Given the description of an element on the screen output the (x, y) to click on. 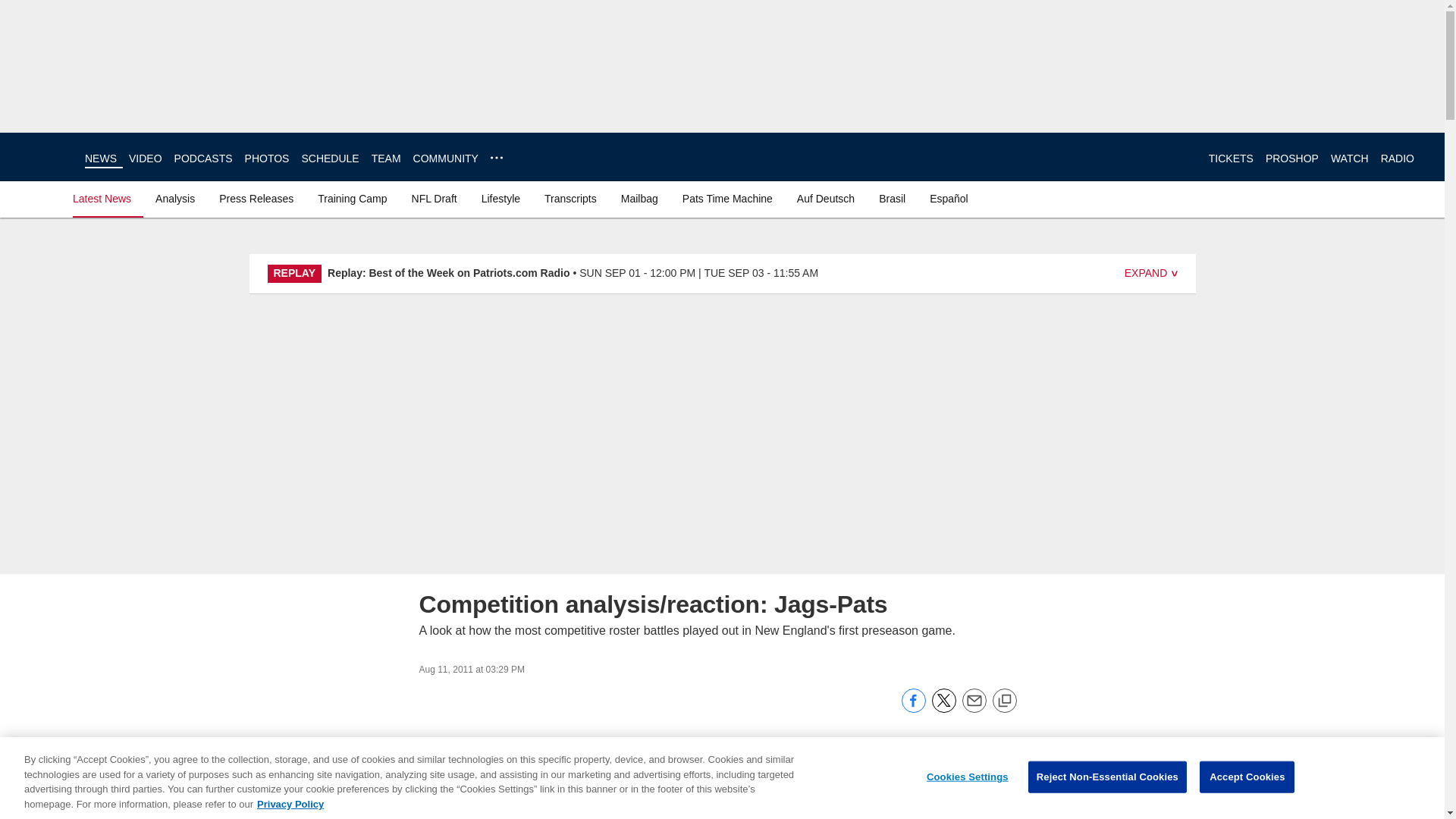
PHOTOS (266, 158)
TEAM (386, 158)
VIDEO (145, 158)
Training Camp (352, 198)
Link to club's homepage (42, 156)
NEWS (100, 158)
PODCASTS (203, 158)
COMMUNITY (446, 158)
... (496, 157)
NEWS (100, 158)
